Given the description of an element on the screen output the (x, y) to click on. 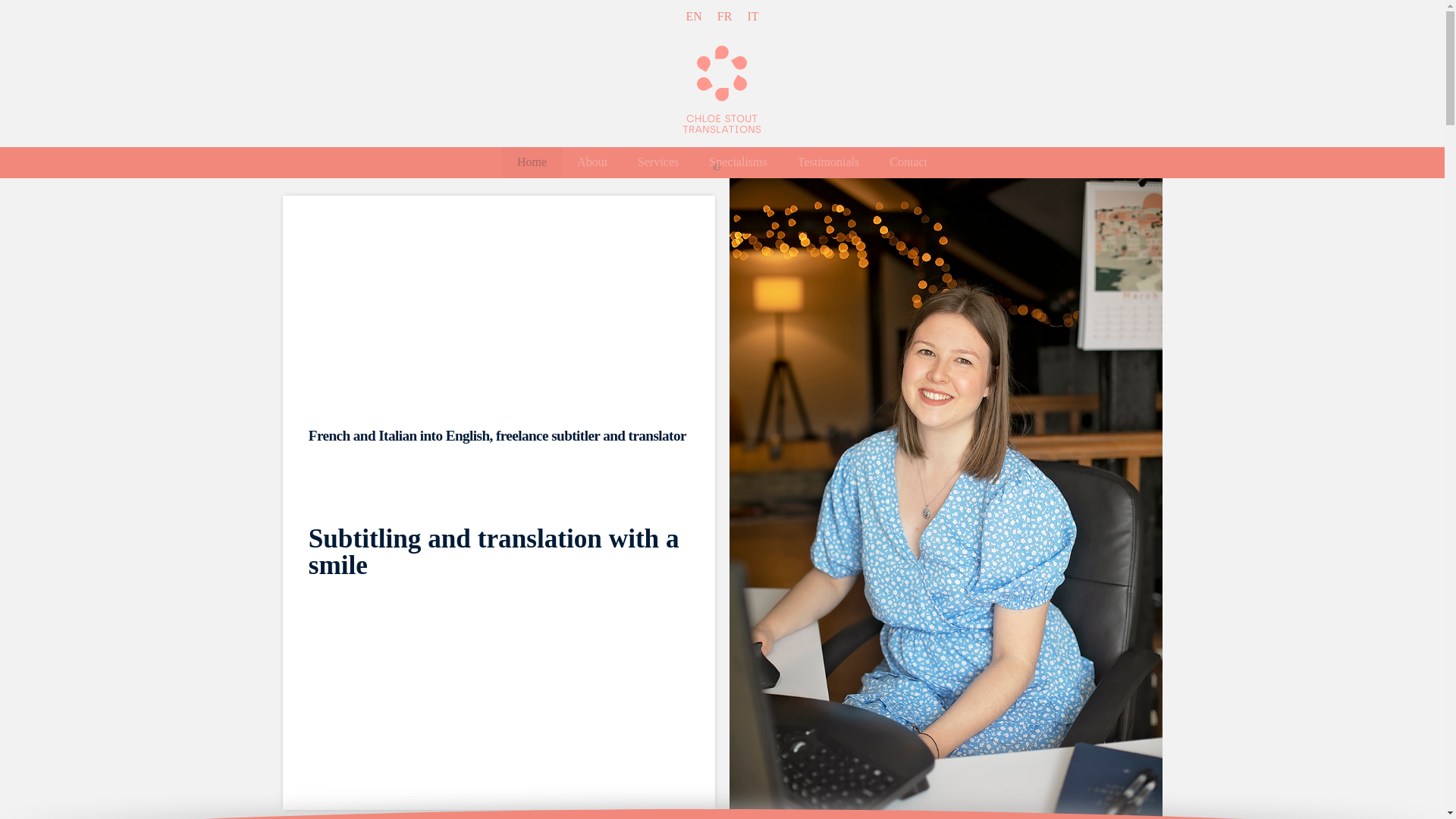
About (592, 162)
Services (658, 162)
IT (752, 16)
Testimonials (829, 162)
FR (724, 16)
Contact (908, 162)
Specialisms (737, 162)
Chloe Stout Translations (721, 90)
Home (532, 162)
EN (693, 16)
Home About Services Specialisms Testimonials Contact (722, 162)
